Given the description of an element on the screen output the (x, y) to click on. 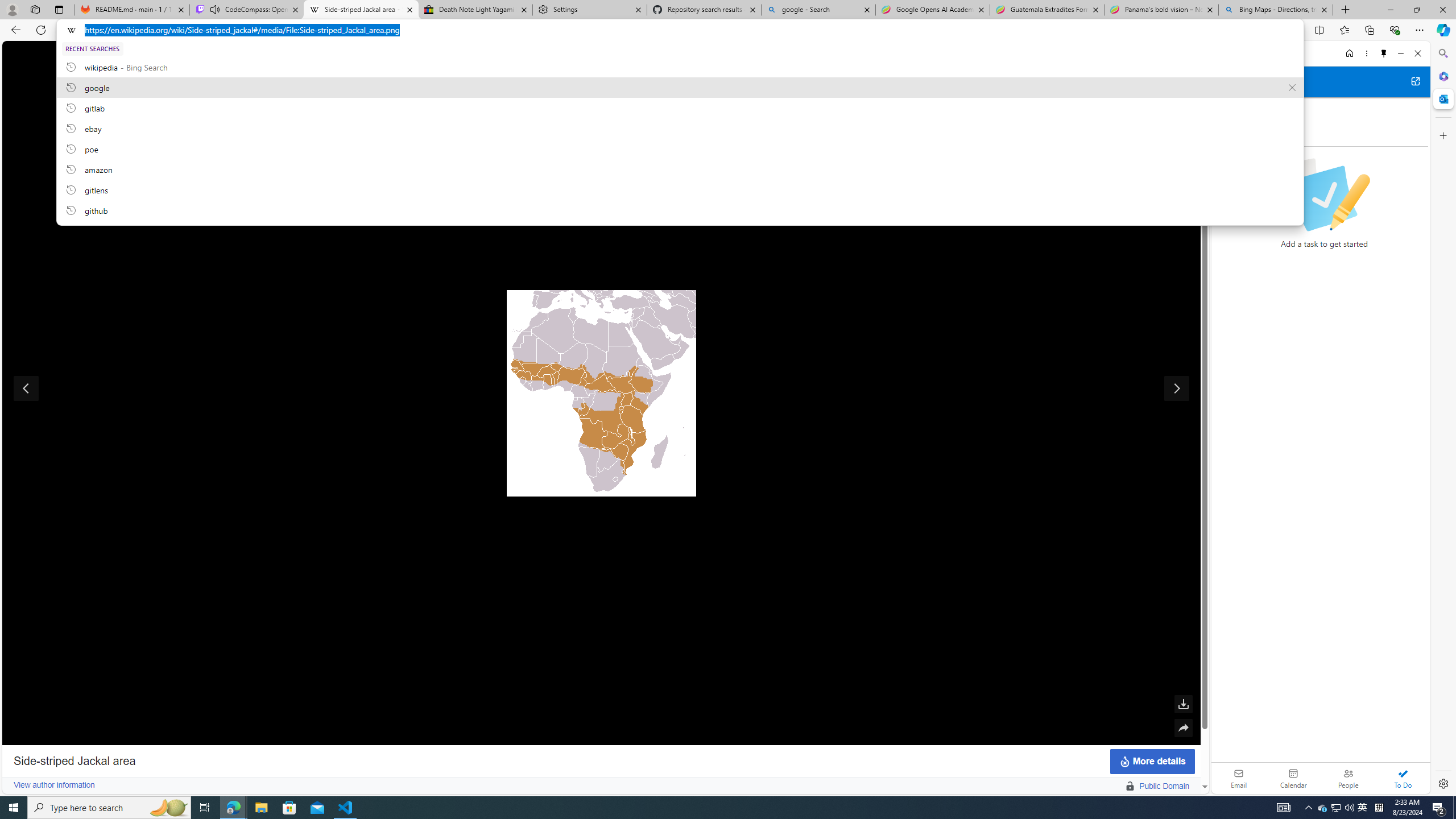
google, recent searches from history (679, 86)
gitlab, recent searches from history (679, 107)
github, recent searches from history (679, 209)
Open in new tab (1414, 80)
Close this tool (Esc) (1183, 58)
Public Domain (1163, 786)
